Given the description of an element on the screen output the (x, y) to click on. 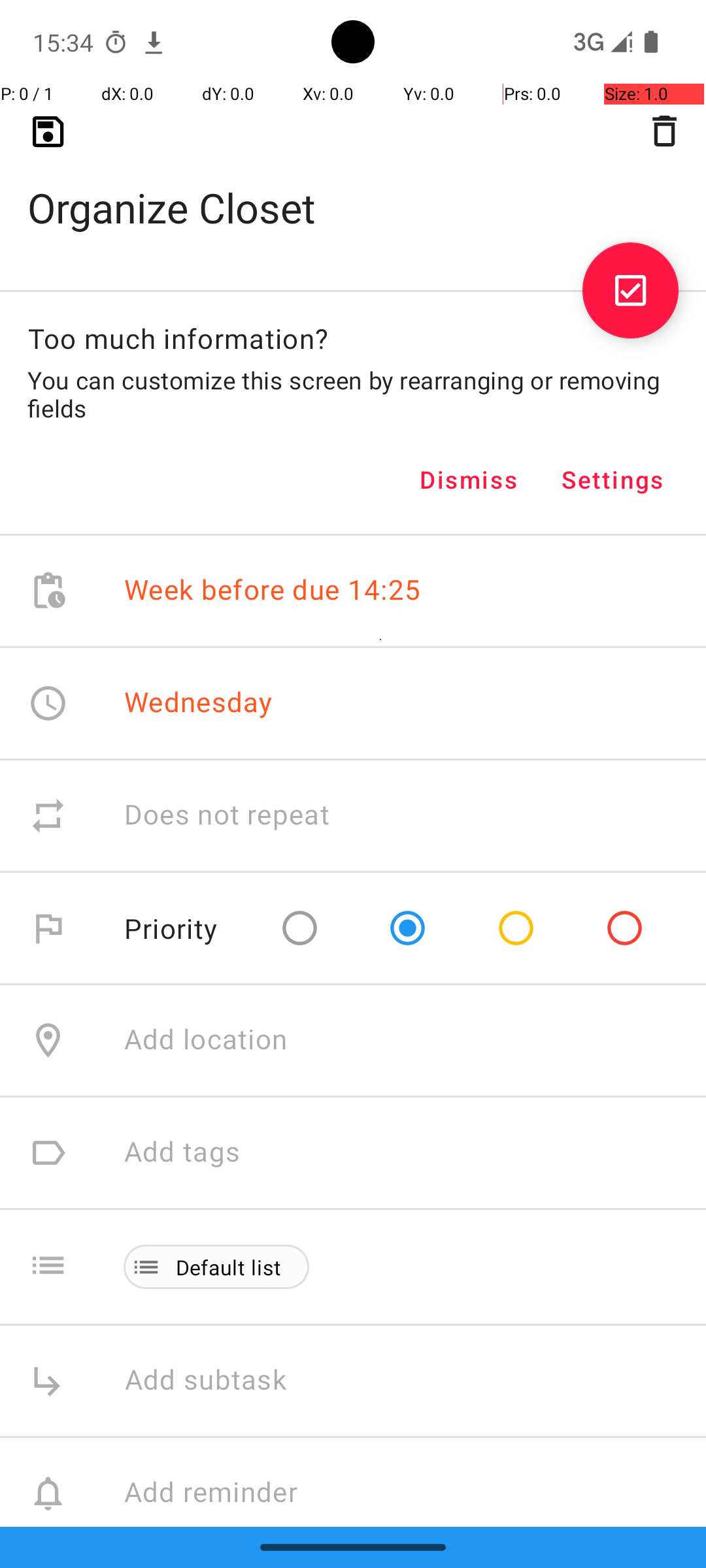
Week before due 14:25 Element type: android.widget.TextView (272, 590)
